Given the description of an element on the screen output the (x, y) to click on. 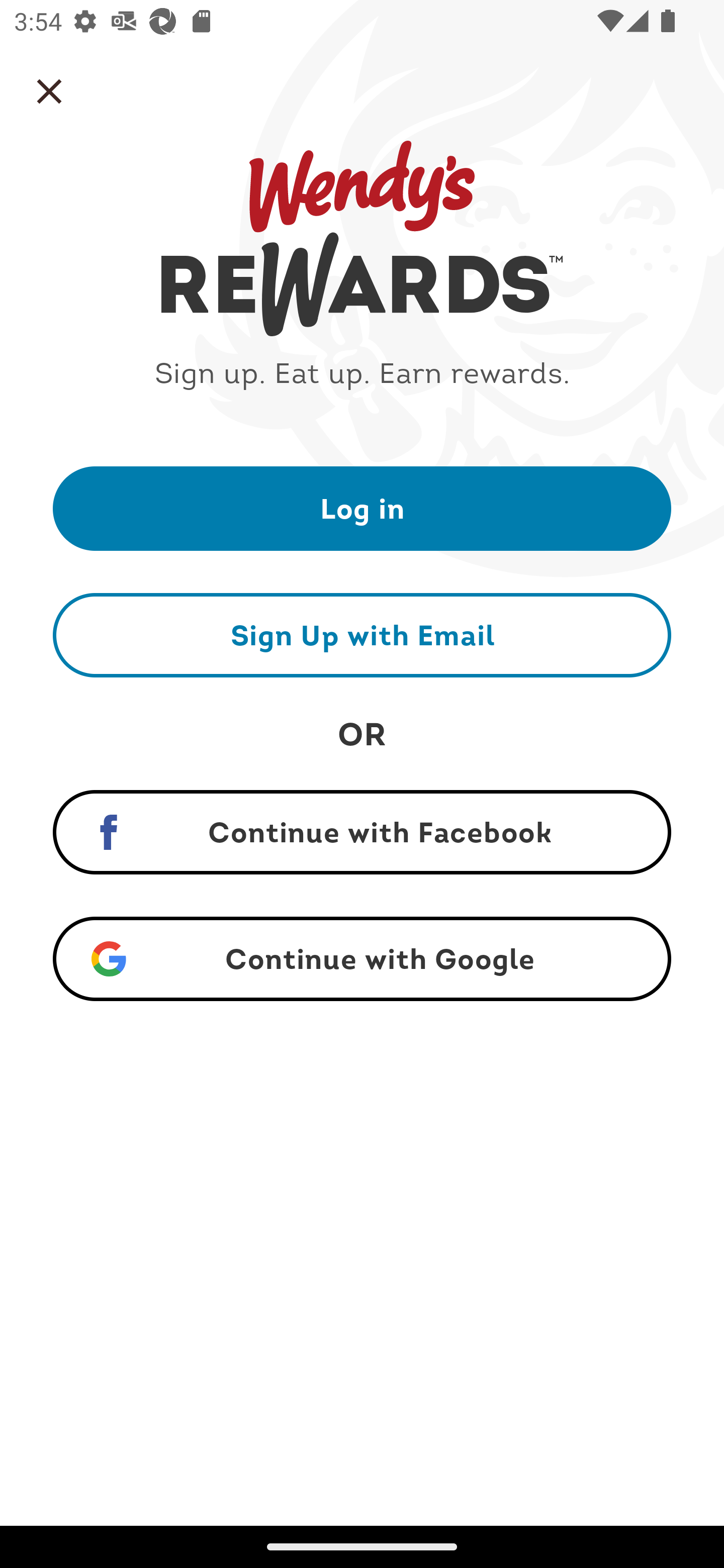
close (49, 91)
Log in (361, 507)
Sign Up with Email (361, 634)
Continue with Facebook (361, 832)
Continue with Google (361, 958)
